Given the description of an element on the screen output the (x, y) to click on. 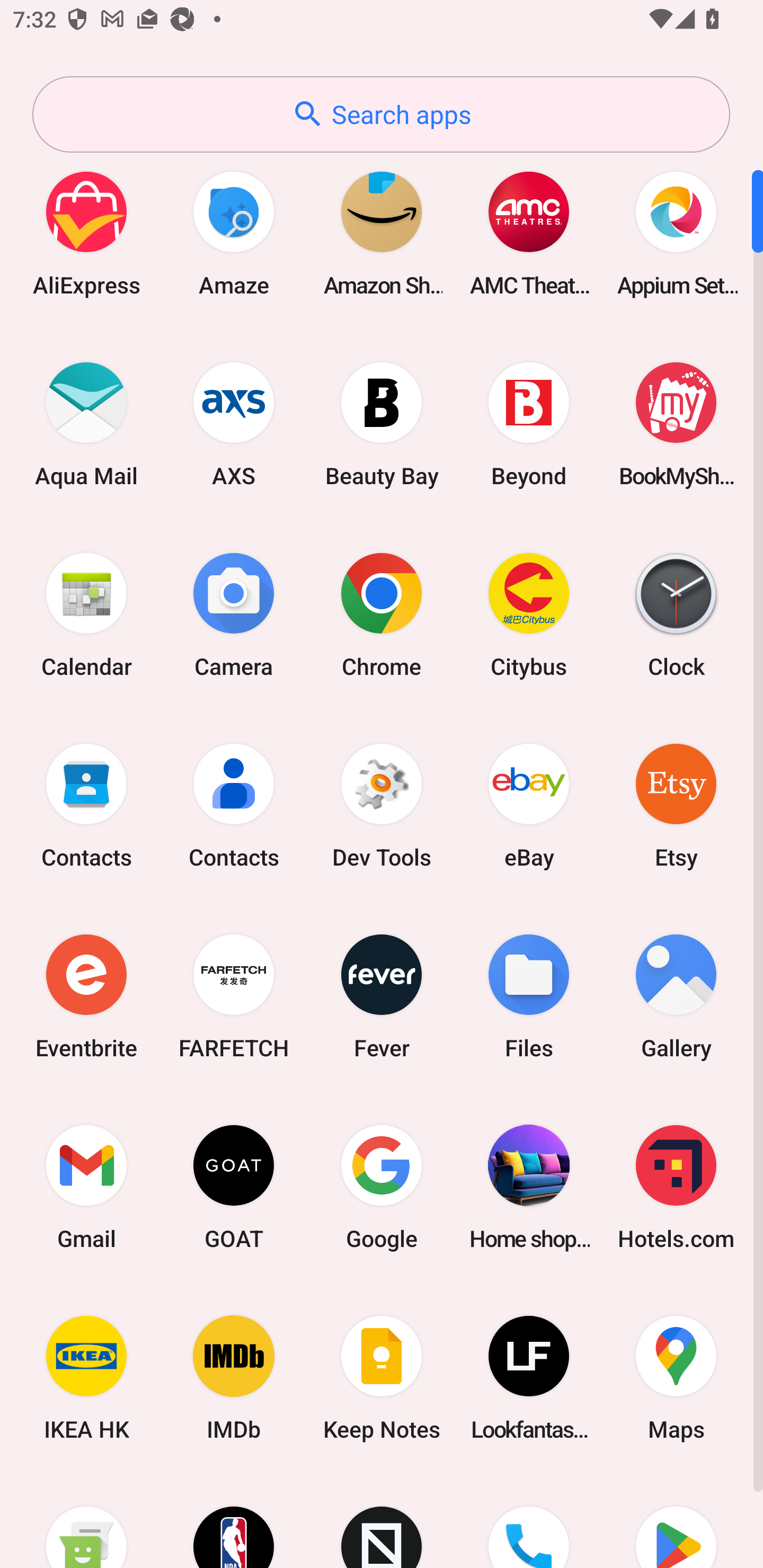
  Search apps (381, 114)
AliExpress (86, 233)
Amaze (233, 233)
Amazon Shopping (381, 233)
AMC Theatres (528, 233)
Appium Settings (676, 233)
Aqua Mail (86, 424)
AXS (233, 424)
Beauty Bay (381, 424)
Beyond (528, 424)
BookMyShow (676, 424)
Calendar (86, 614)
Camera (233, 614)
Chrome (381, 614)
Citybus (528, 614)
Clock (676, 614)
Contacts (86, 805)
Contacts (233, 805)
Dev Tools (381, 805)
eBay (528, 805)
Etsy (676, 805)
Eventbrite (86, 996)
FARFETCH (233, 996)
Fever (381, 996)
Files (528, 996)
Gallery (676, 996)
Gmail (86, 1186)
GOAT (233, 1186)
Google (381, 1186)
Home shopping (528, 1186)
Hotels.com (676, 1186)
IKEA HK (86, 1377)
IMDb (233, 1377)
Keep Notes (381, 1377)
Lookfantastic (528, 1377)
Maps (676, 1377)
Messaging (86, 1520)
NBA (233, 1520)
Novelship (381, 1520)
Phone (528, 1520)
Play Store (676, 1520)
